Given the description of an element on the screen output the (x, y) to click on. 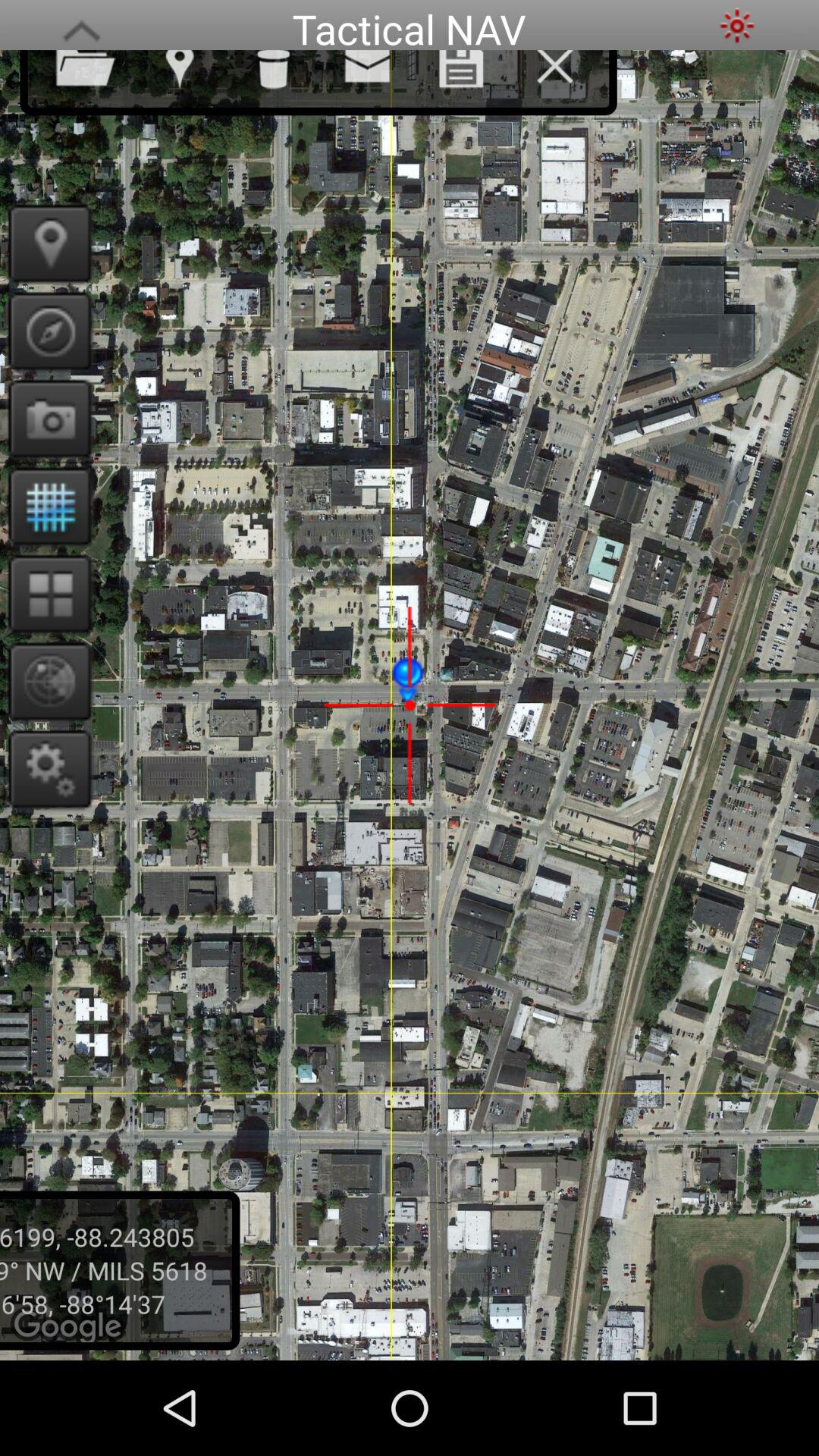
move up (81, 25)
